Given the description of an element on the screen output the (x, y) to click on. 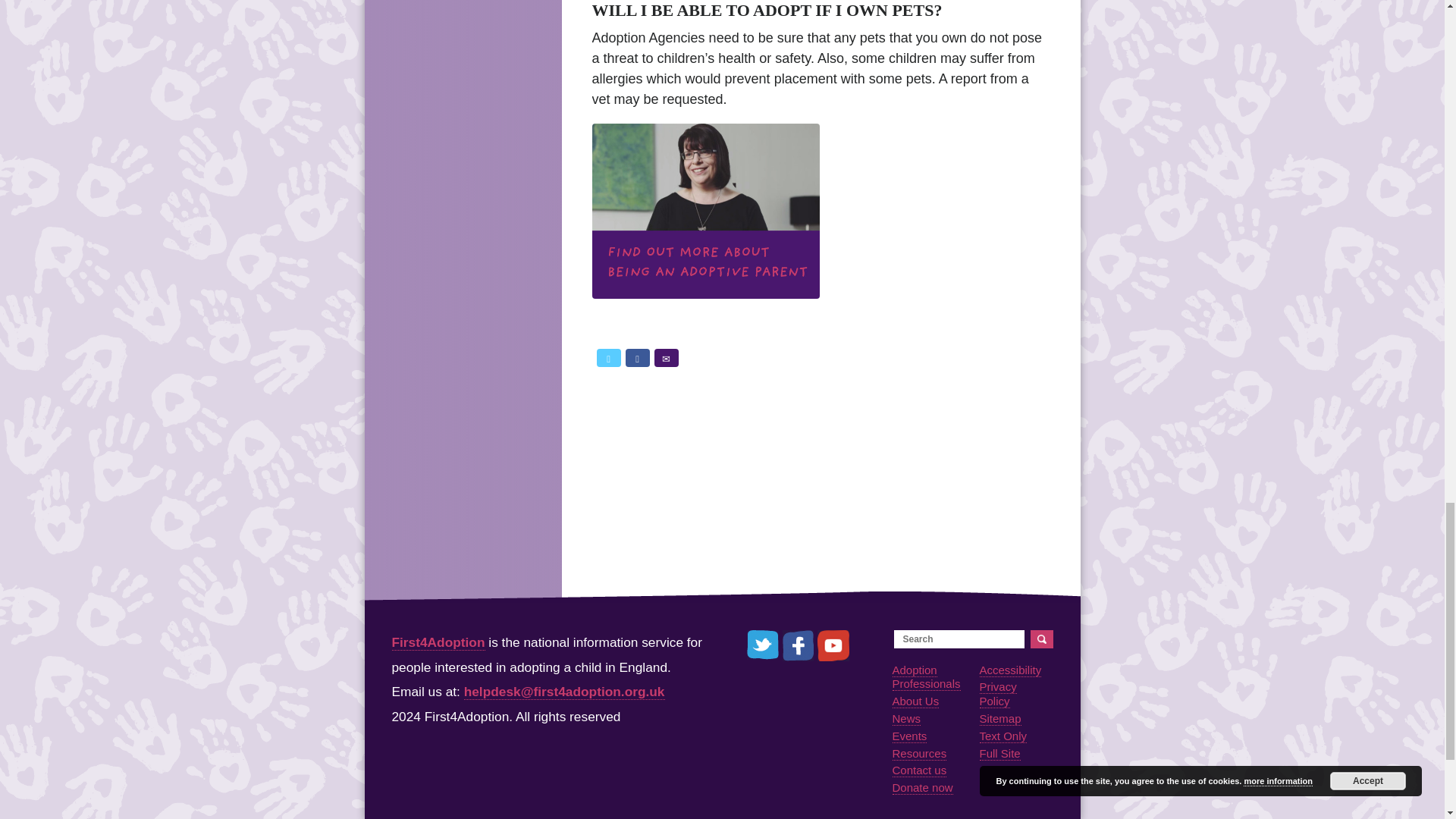
First4Adoption (437, 642)
